Given the description of an element on the screen output the (x, y) to click on. 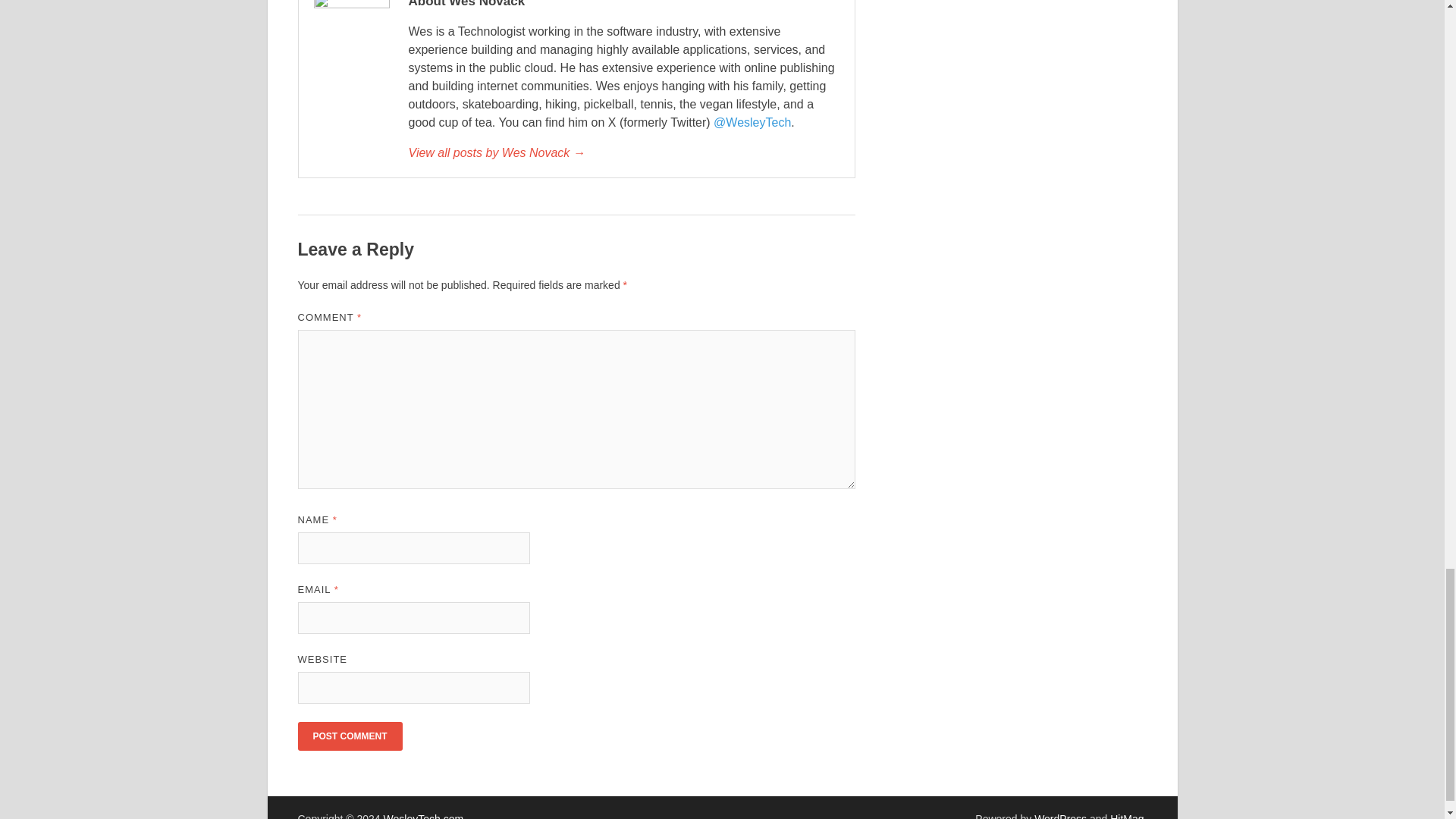
Wes Novack (622, 153)
Post Comment (349, 736)
Post Comment (349, 736)
